Given the description of an element on the screen output the (x, y) to click on. 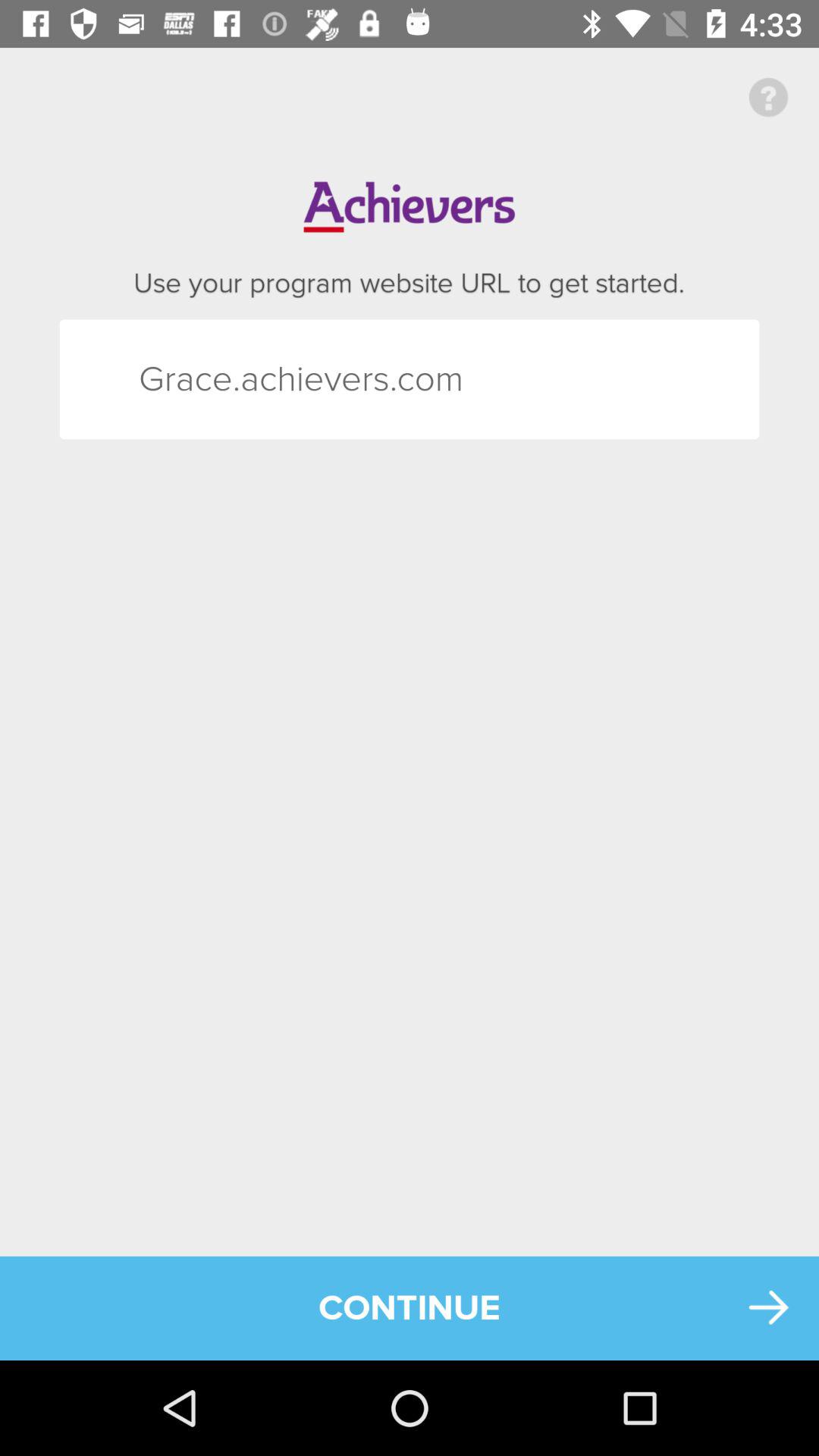
swipe to grace icon (165, 379)
